Given the description of an element on the screen output the (x, y) to click on. 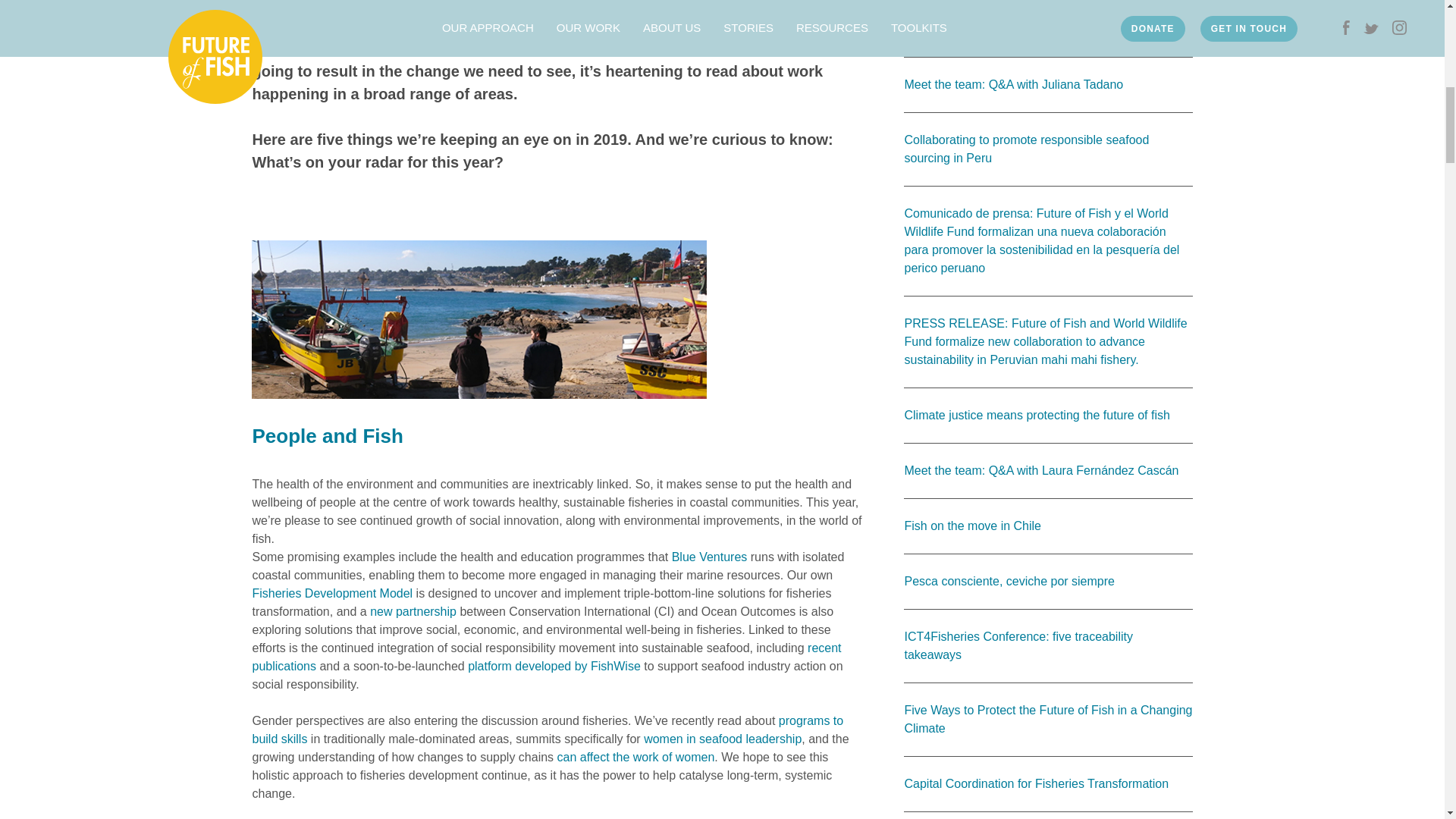
can affect the work of women (635, 757)
programs to build skills (547, 729)
women in seafood leadership (722, 738)
recent publications (546, 656)
Fisheries Development Model (331, 593)
platform developed by FishWise (553, 666)
Blue Ventures (709, 556)
new partnership (413, 611)
